Given the description of an element on the screen output the (x, y) to click on. 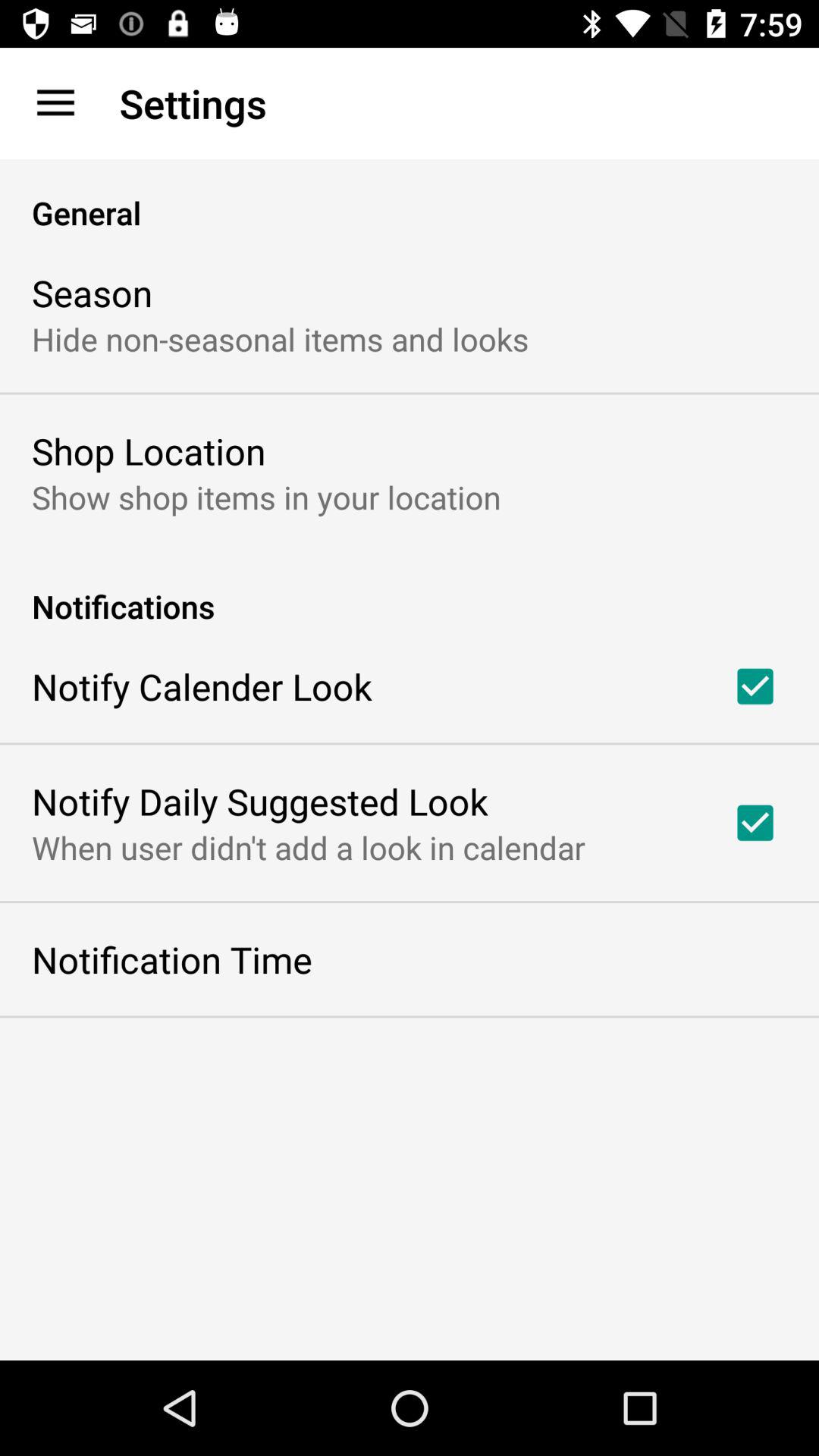
turn on the item below the show shop items item (409, 589)
